Given the description of an element on the screen output the (x, y) to click on. 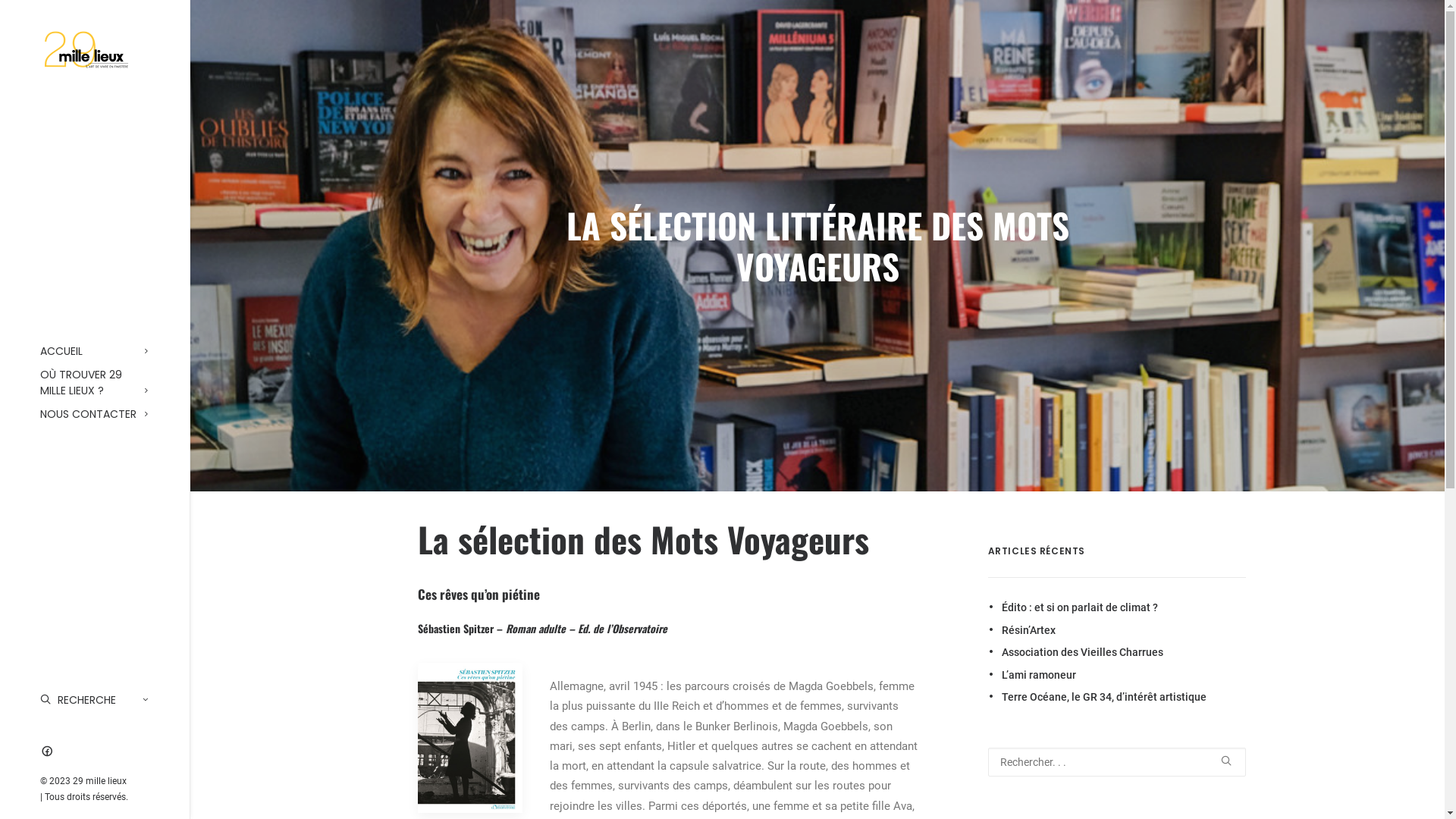
Association des Vieilles Charrues Element type: text (1123, 652)
Recherche pour : Element type: hover (1116, 761)
